Given the description of an element on the screen output the (x, y) to click on. 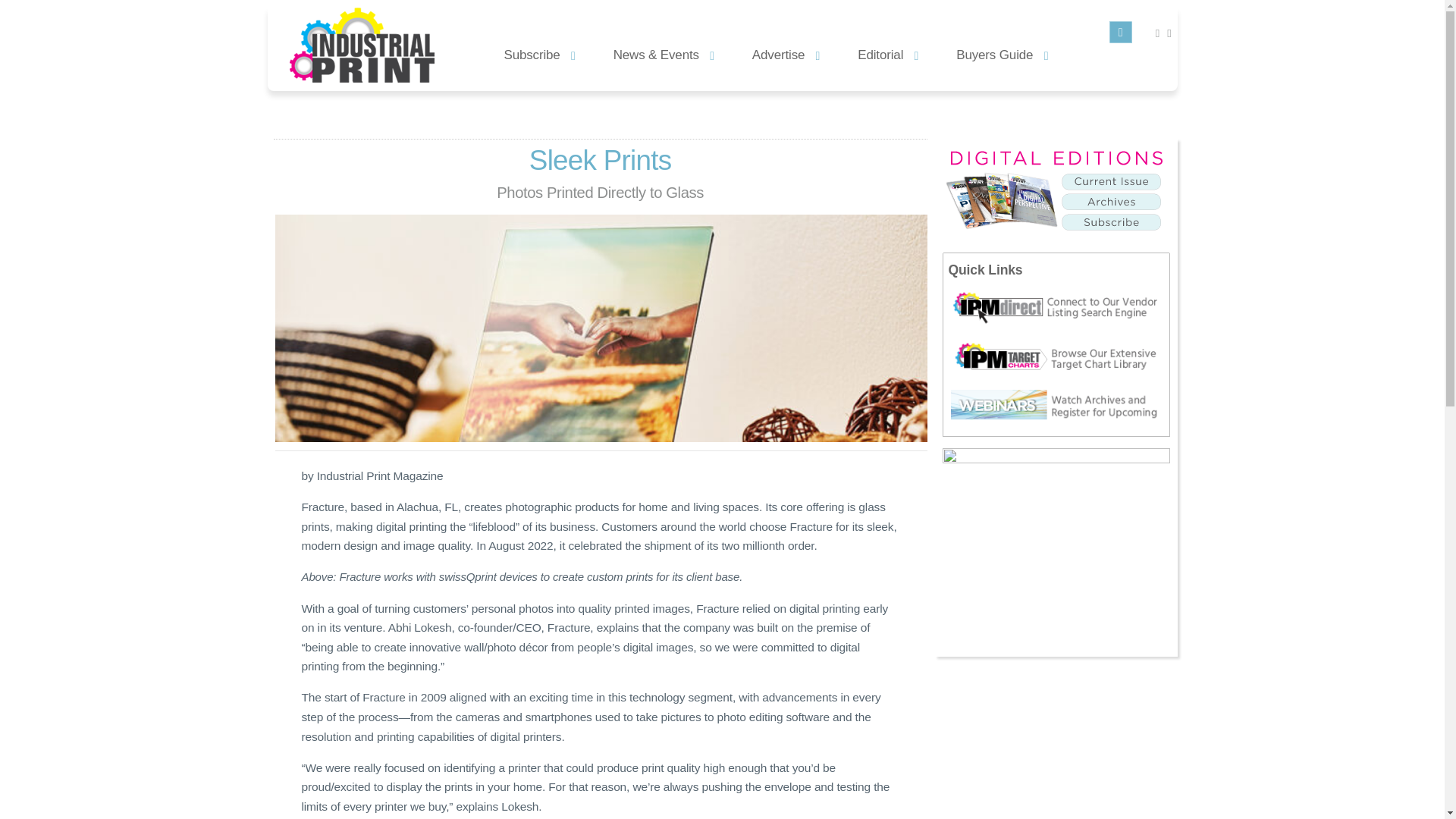
Advertise (785, 53)
Subscribe (539, 53)
IPMDirect (1058, 307)
Webinars (1058, 405)
Buyers Guide (1002, 53)
Editorial (887, 53)
Target Charts (1058, 359)
